Given the description of an element on the screen output the (x, y) to click on. 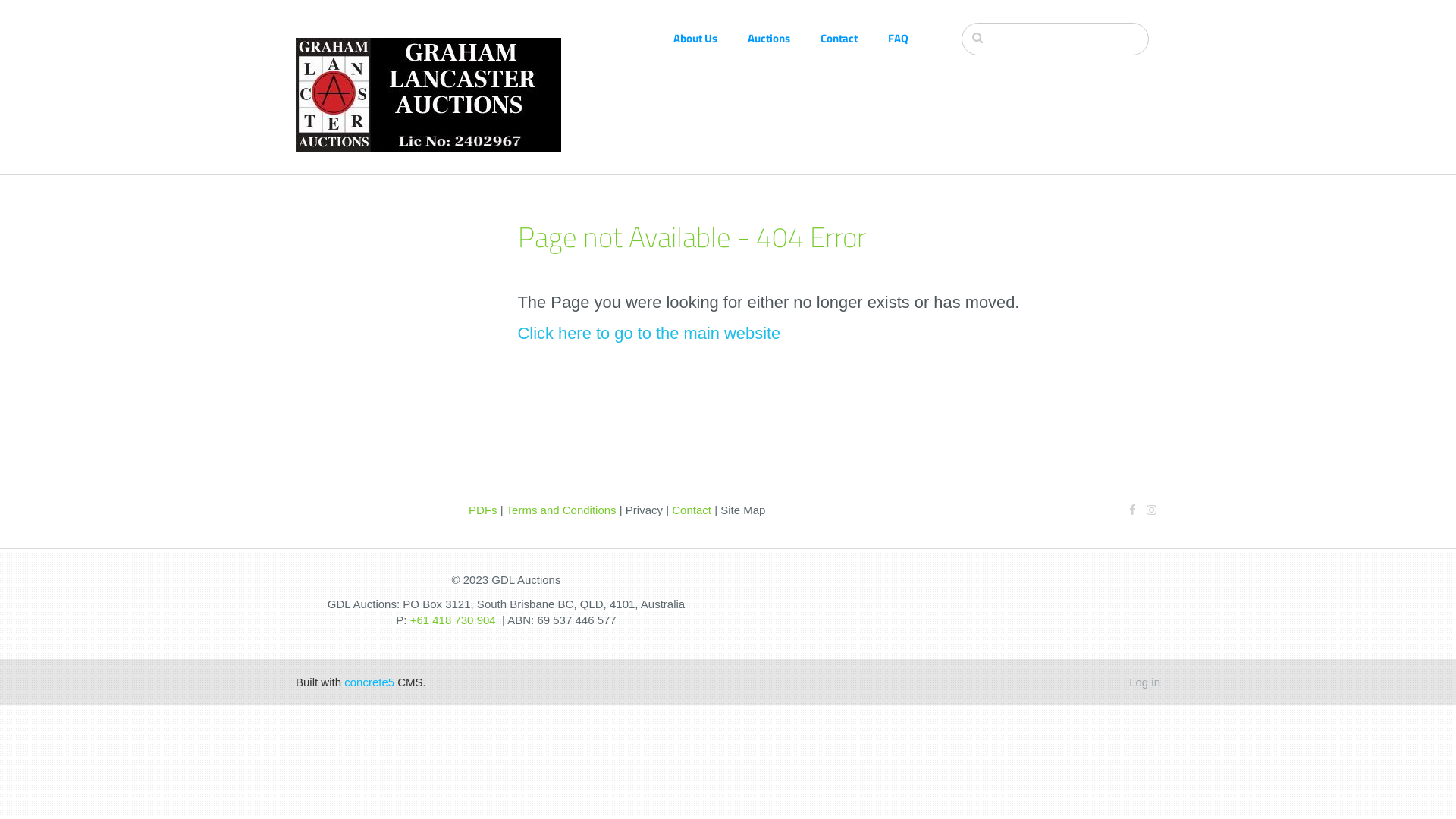
+61 418 730 904 Element type: text (452, 619)
concrete5 Element type: text (369, 681)
Contact Element type: text (854, 38)
Auctions Element type: text (783, 38)
Terms and Conditions Element type: text (561, 509)
Log in Element type: text (1144, 681)
Click here to go to the main website Element type: text (648, 332)
Contact Element type: text (691, 509)
About Us Element type: text (710, 38)
PDFs Element type: text (482, 509)
FAQ Element type: text (912, 38)
